Given the description of an element on the screen output the (x, y) to click on. 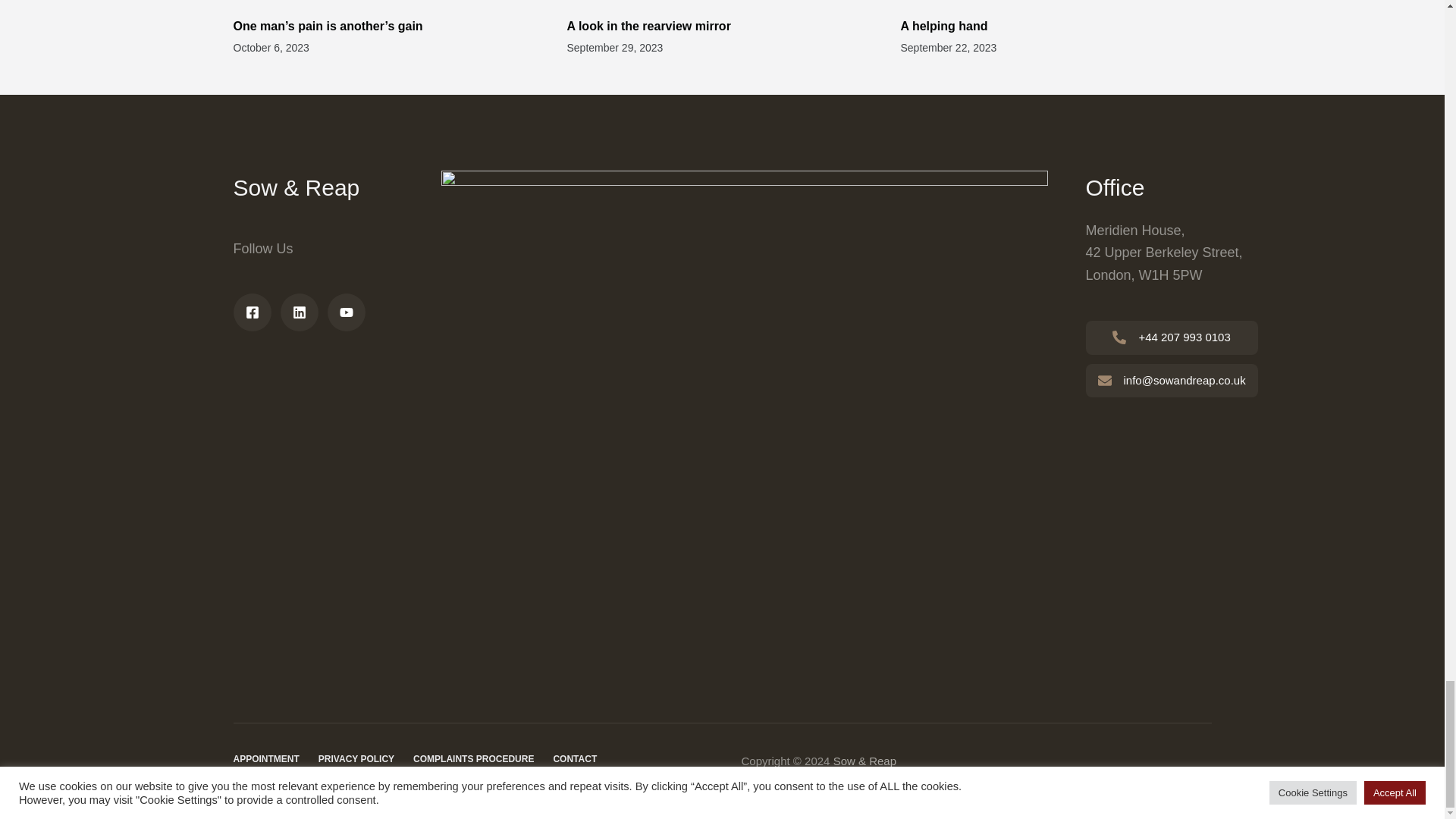
A helping hand (944, 25)
A look in the rearview mirror   (652, 25)
